Given the description of an element on the screen output the (x, y) to click on. 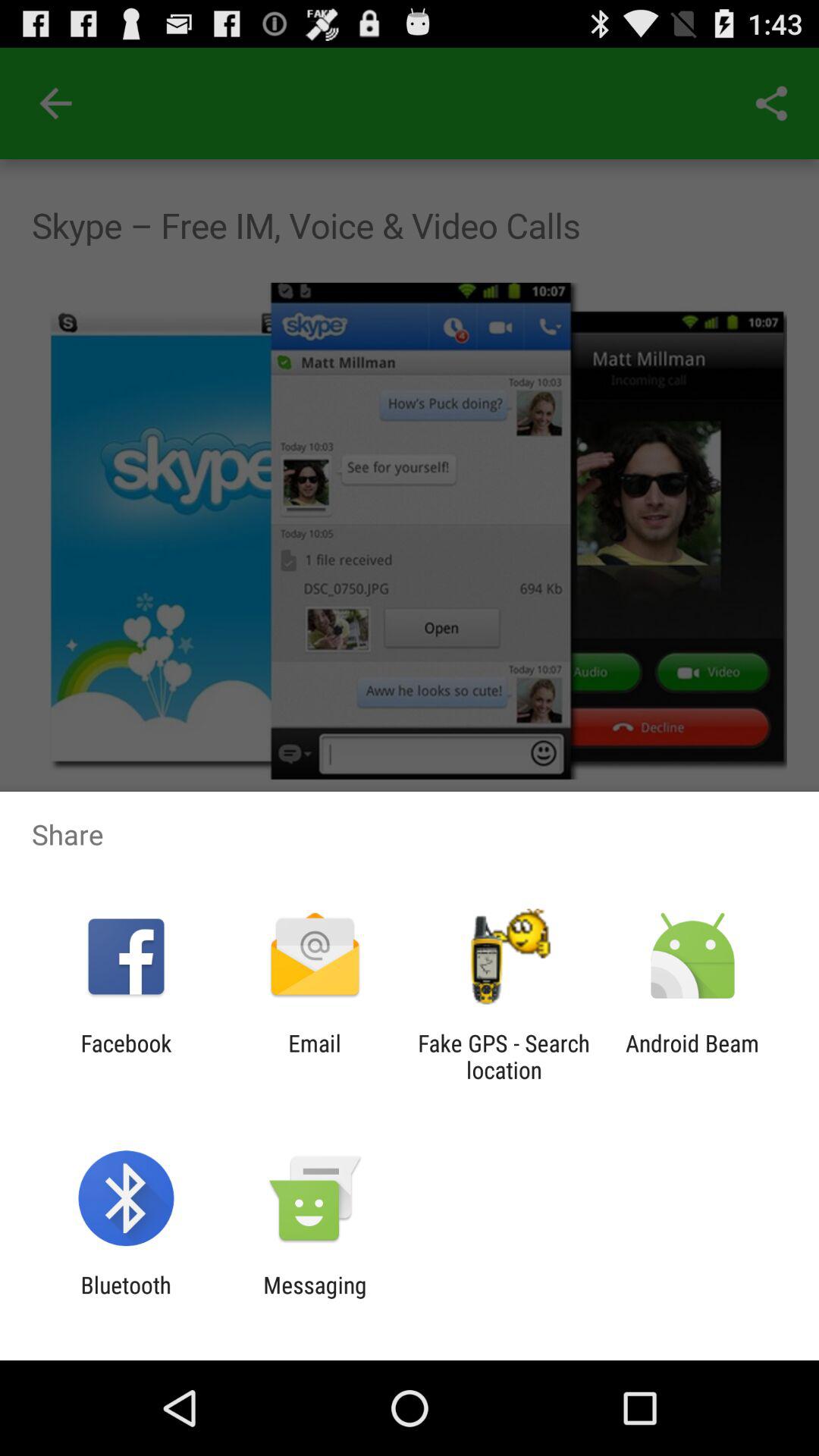
turn off the icon next to the email app (125, 1056)
